Given the description of an element on the screen output the (x, y) to click on. 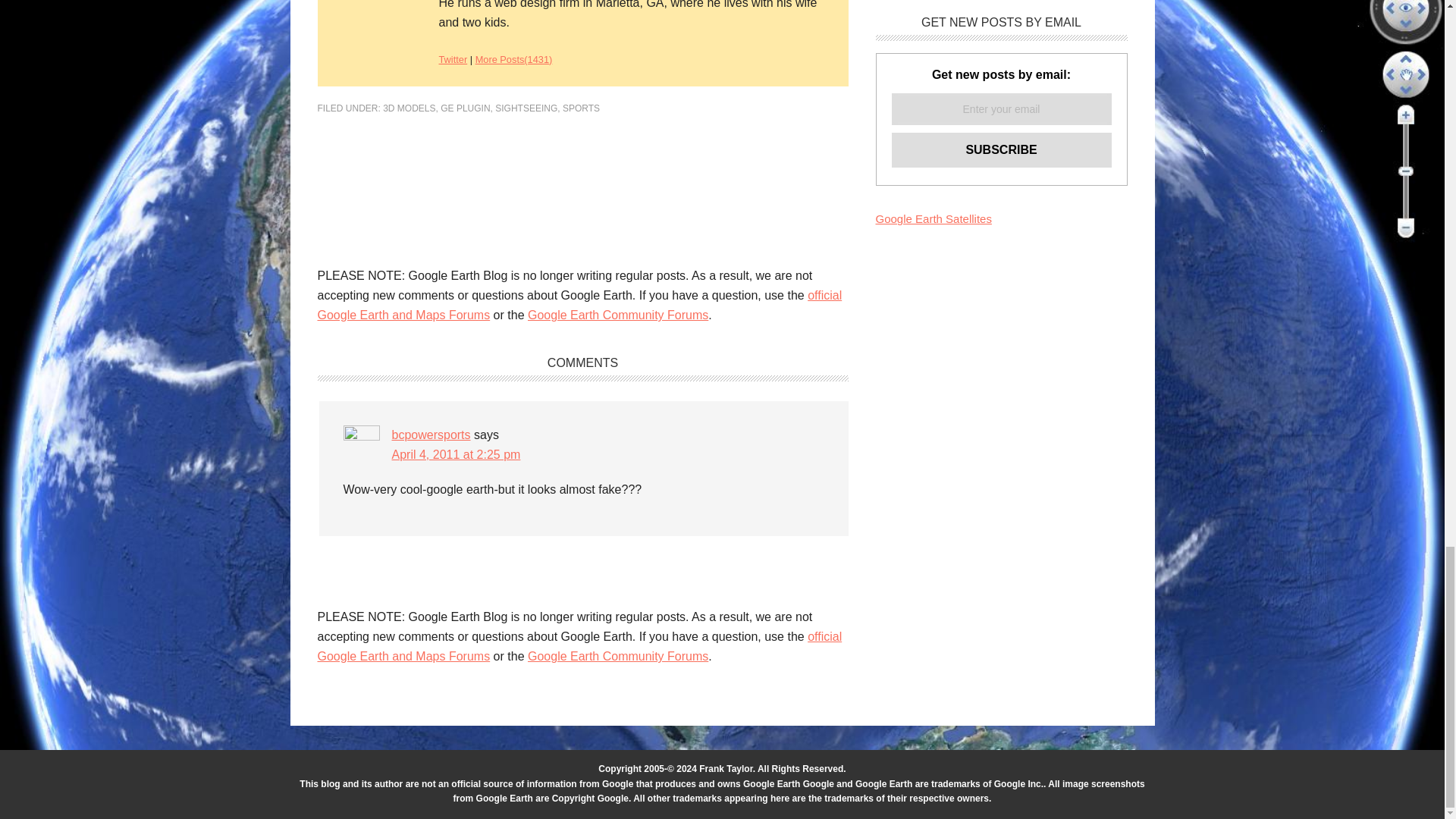
More Posts By Mickey Mellen (514, 59)
3D MODELS (408, 108)
Google Earth Community Forums (617, 656)
Mickey Mellen On Twitter (452, 59)
official Google Earth and Maps Forums (579, 645)
Subscribe (1001, 149)
official Google Earth and Maps Forums (579, 305)
SPORTS (580, 108)
April 4, 2011 at 2:25 pm (455, 454)
Google Earth Community Forums (617, 314)
Twitter (452, 59)
GE PLUGIN (465, 108)
bcpowersports (430, 434)
SIGHTSEEING (526, 108)
